Given the description of an element on the screen output the (x, y) to click on. 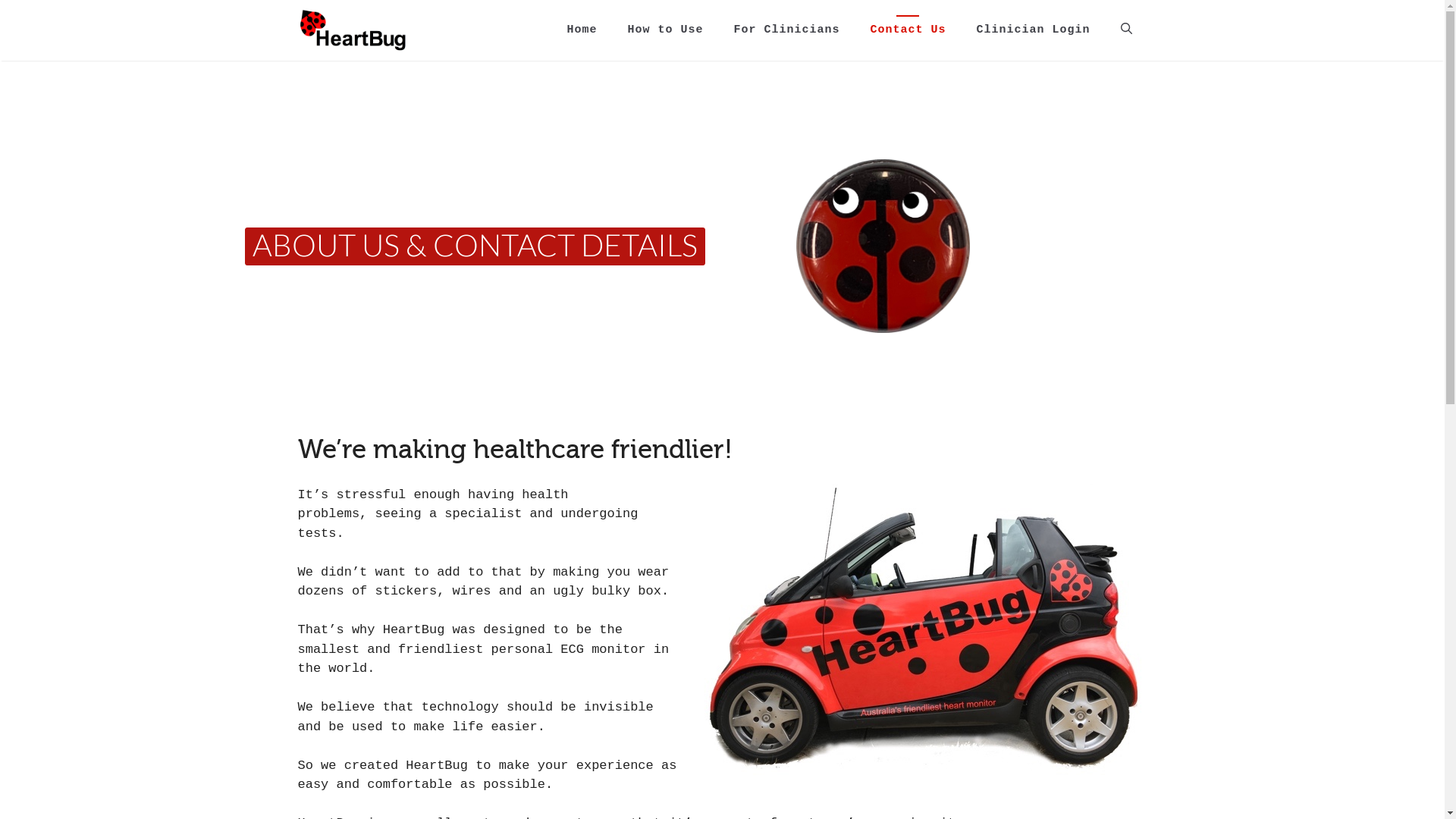
How to Use Element type: text (664, 30)
Home Element type: text (581, 30)
For Clinicians Element type: text (786, 30)
Contact Us Element type: text (907, 30)
Clinician Login Element type: text (1032, 30)
HeartBug Element type: hover (352, 30)
